Given the description of an element on the screen output the (x, y) to click on. 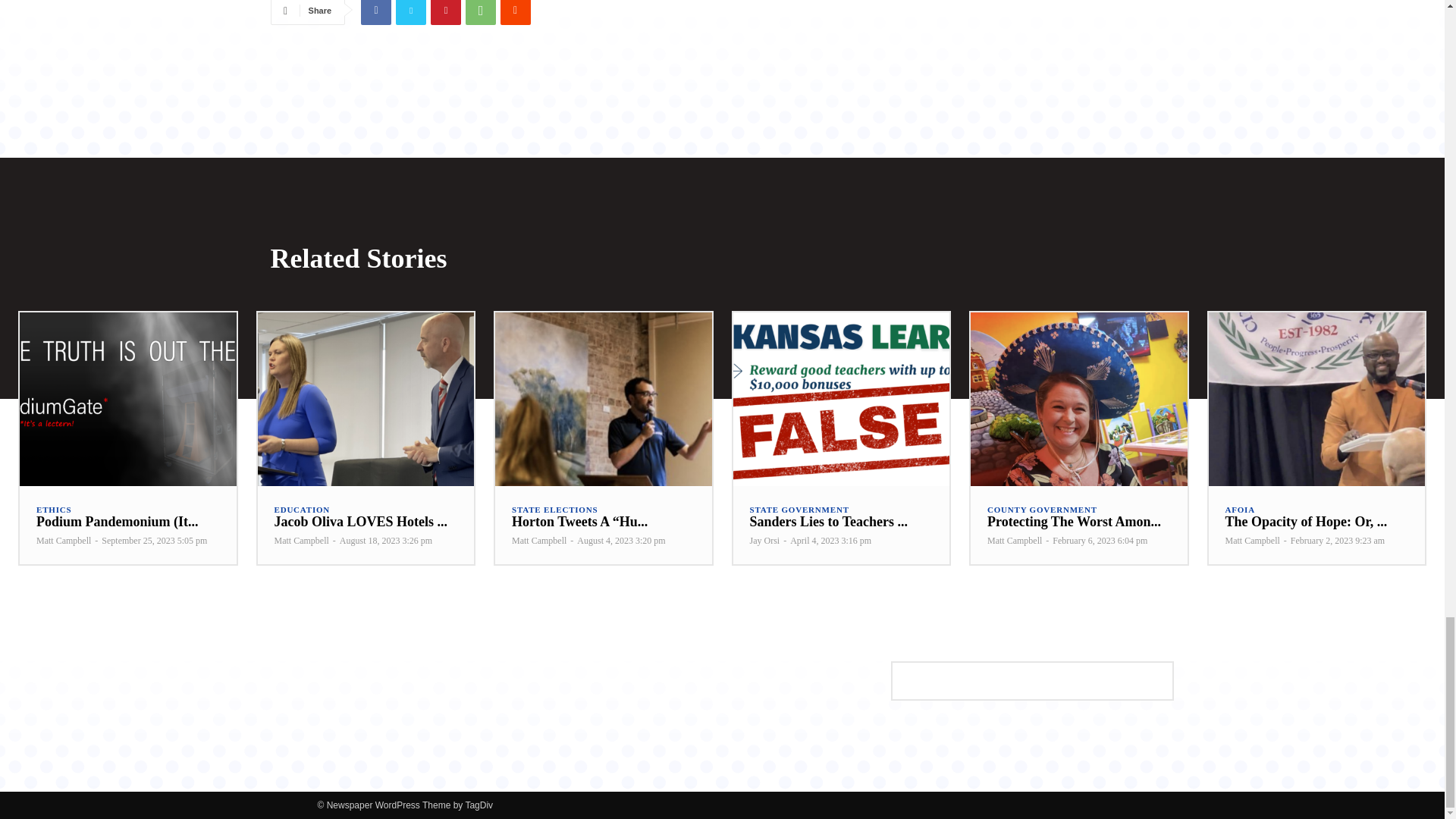
Twitter (411, 12)
Facebook (376, 12)
Pinterest (445, 12)
